Given the description of an element on the screen output the (x, y) to click on. 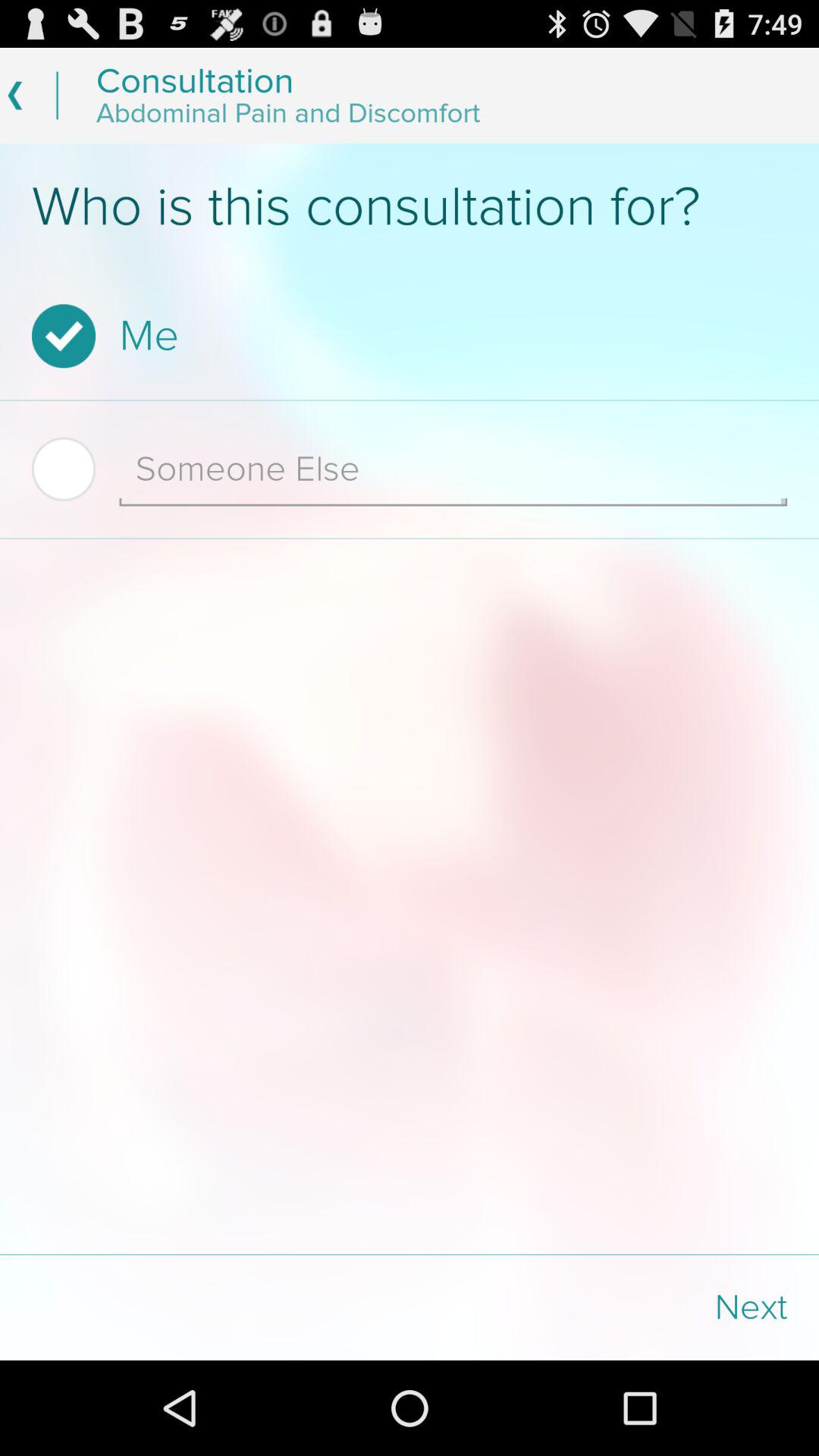
open the checkbox below me icon (75, 469)
